Given the description of an element on the screen output the (x, y) to click on. 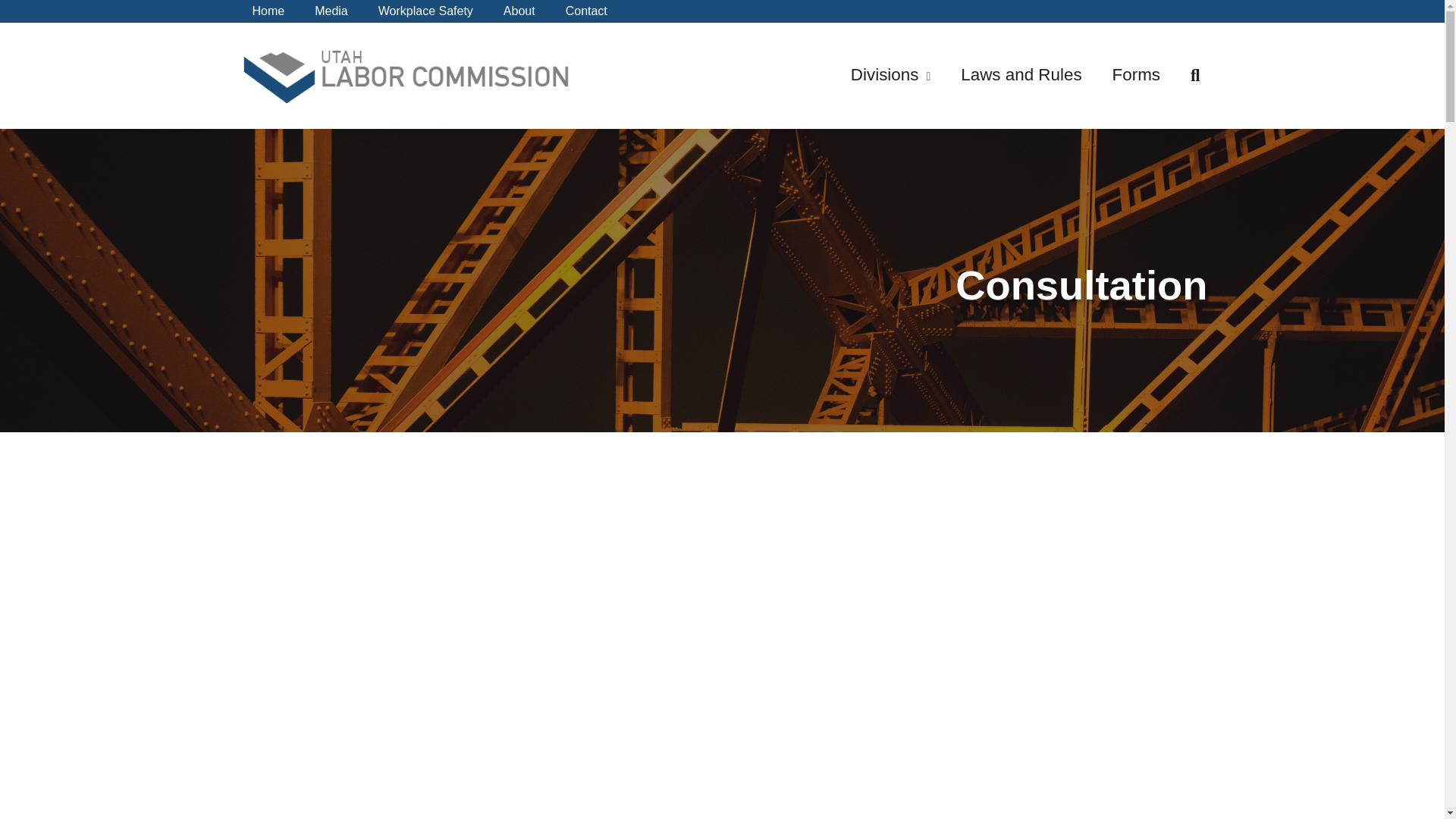
Laws and Rules (1020, 74)
Forms (1135, 74)
Divisions (884, 74)
